Given the description of an element on the screen output the (x, y) to click on. 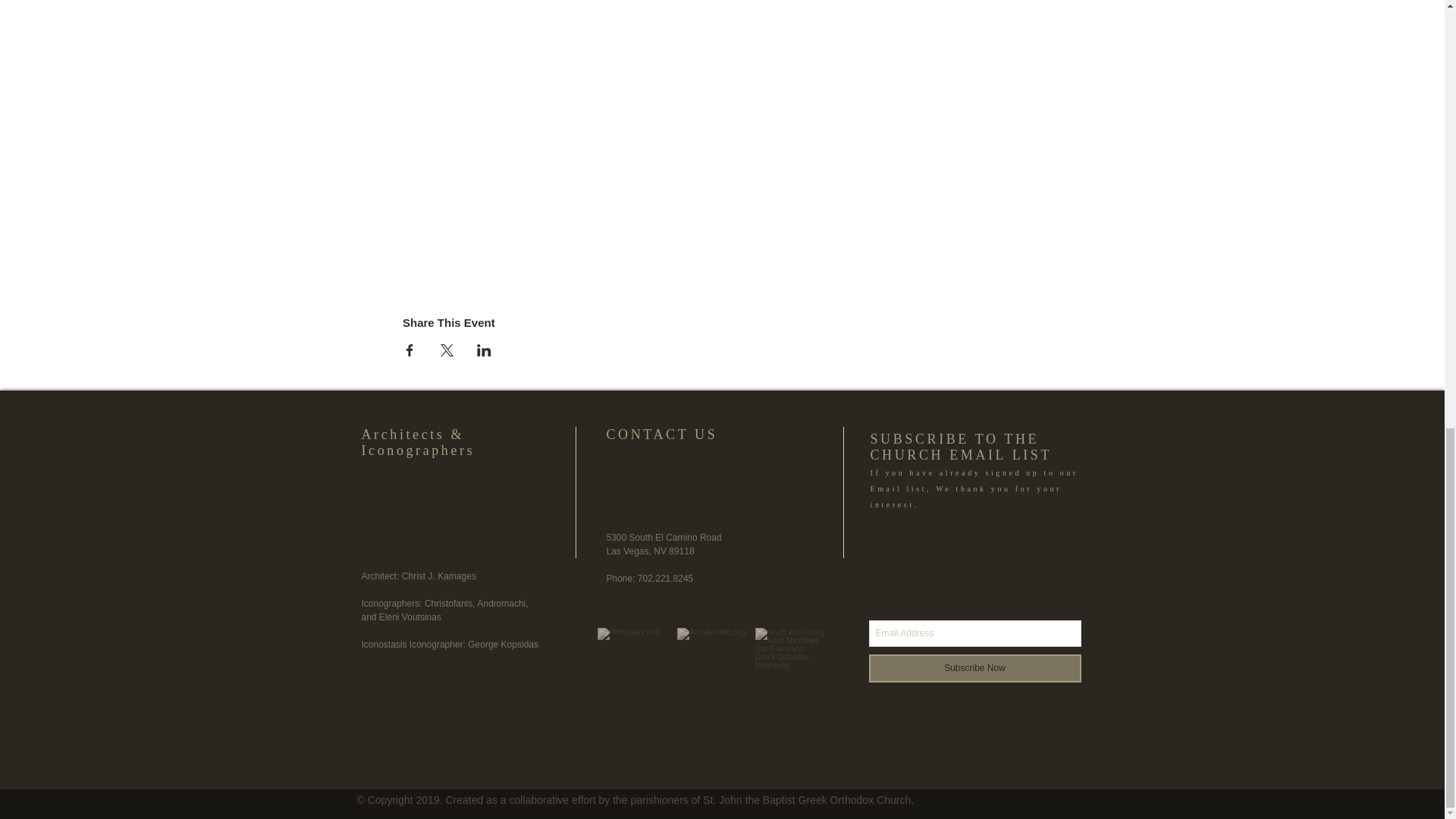
Subscribe Now (975, 668)
